Given the description of an element on the screen output the (x, y) to click on. 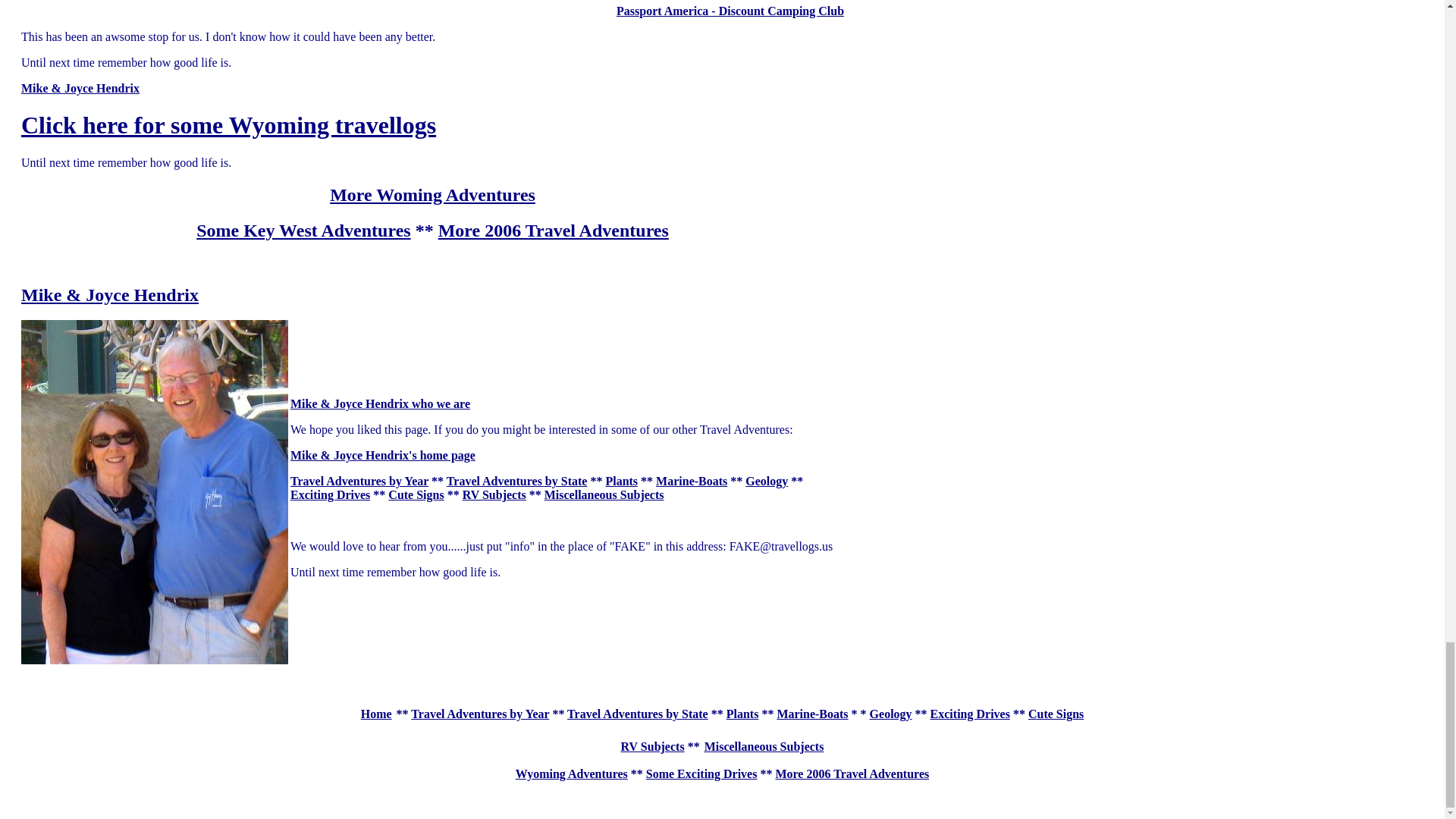
Click here for some Wyoming travellogs (228, 124)
Some Key West Adventures (303, 230)
More Woming Adventures (432, 194)
Passport America - Discount Camping Club (729, 10)
More 2006 Travel Adventures (553, 230)
